Given the description of an element on the screen output the (x, y) to click on. 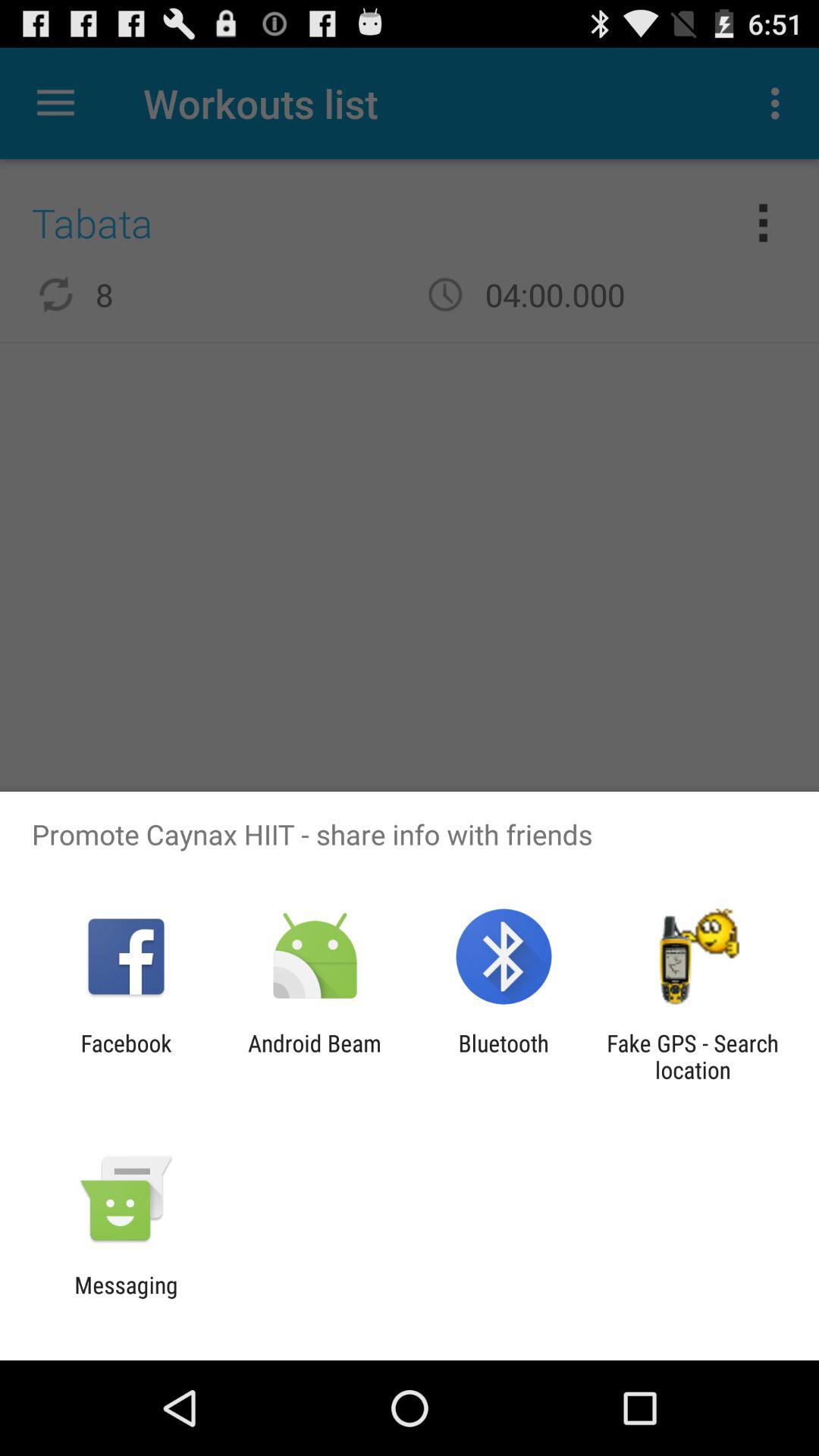
turn on the item to the left of android beam app (125, 1056)
